Given the description of an element on the screen output the (x, y) to click on. 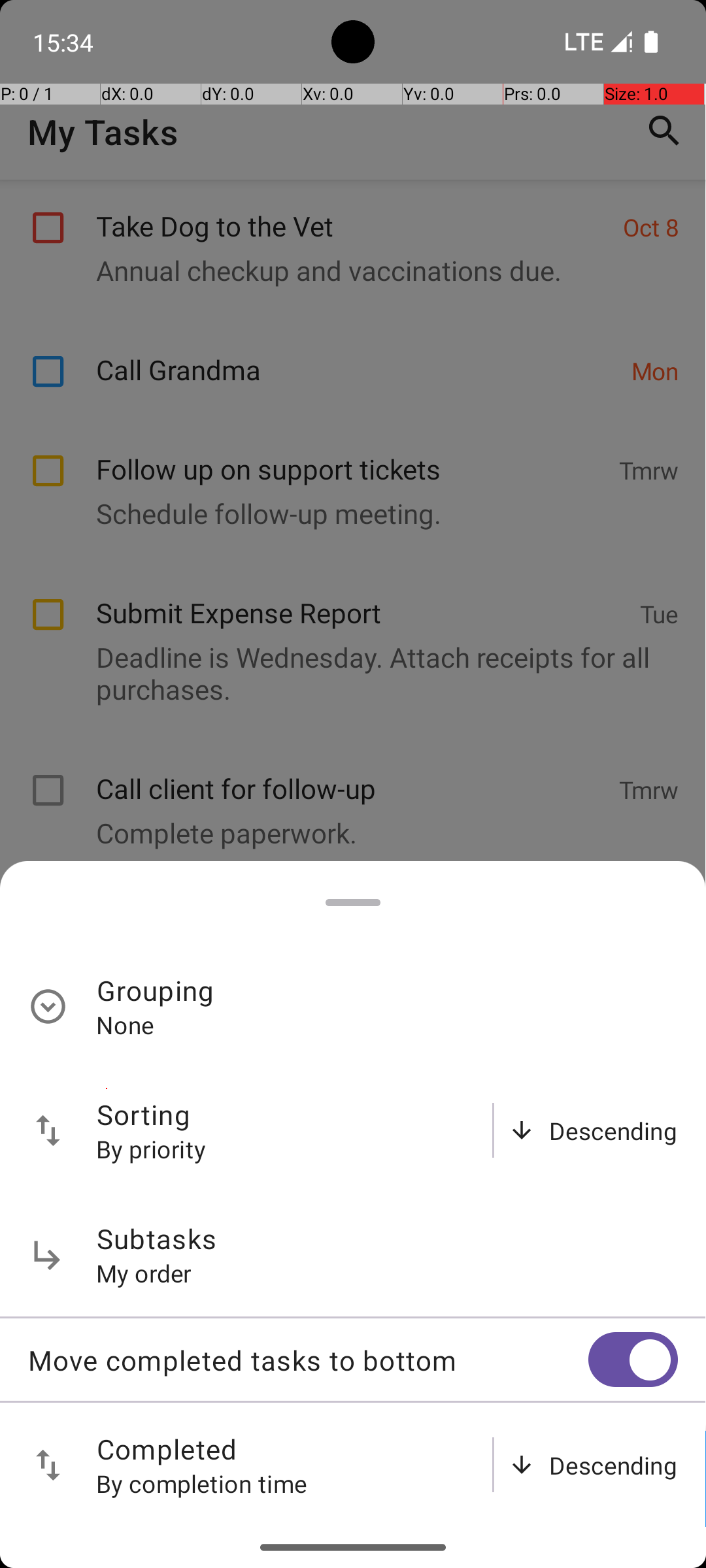
Drag handle Element type: android.view.View (352, 902)
Grouping Element type: android.widget.TextView (155, 989)
Sorting Element type: android.widget.TextView (143, 1113)
By priority Element type: android.widget.TextView (151, 1148)
Subtasks Element type: android.widget.TextView (156, 1238)
My order Element type: android.widget.TextView (144, 1273)
Move completed tasks to bottom Element type: android.widget.TextView (307, 1359)
Completed Element type: android.widget.TextView (166, 1448)
By completion time Element type: android.widget.TextView (201, 1483)
Descending Element type: android.widget.TextView (613, 1130)
